Given the description of an element on the screen output the (x, y) to click on. 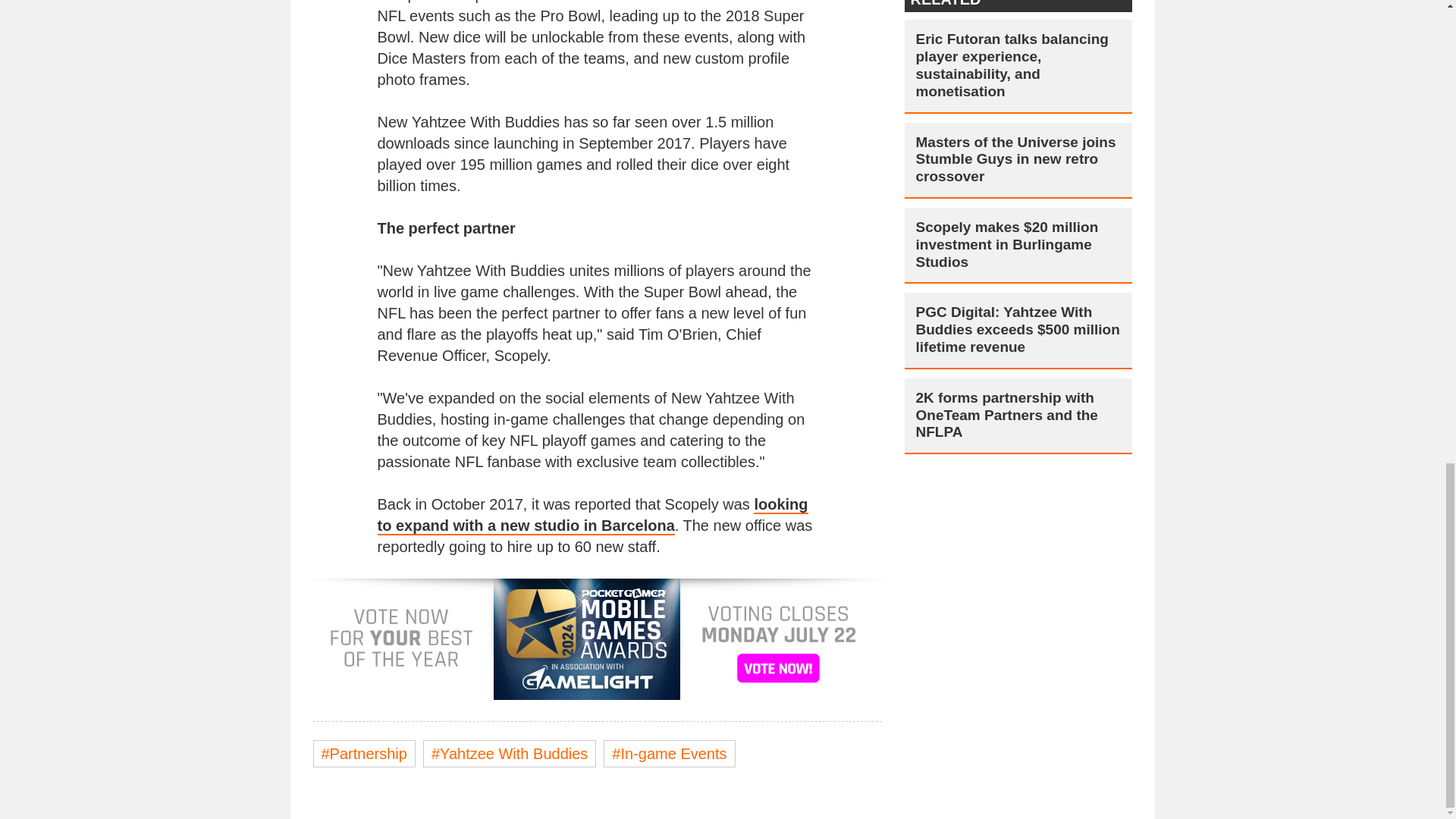
looking to expand with a new studio in Barcelona (592, 515)
